Given the description of an element on the screen output the (x, y) to click on. 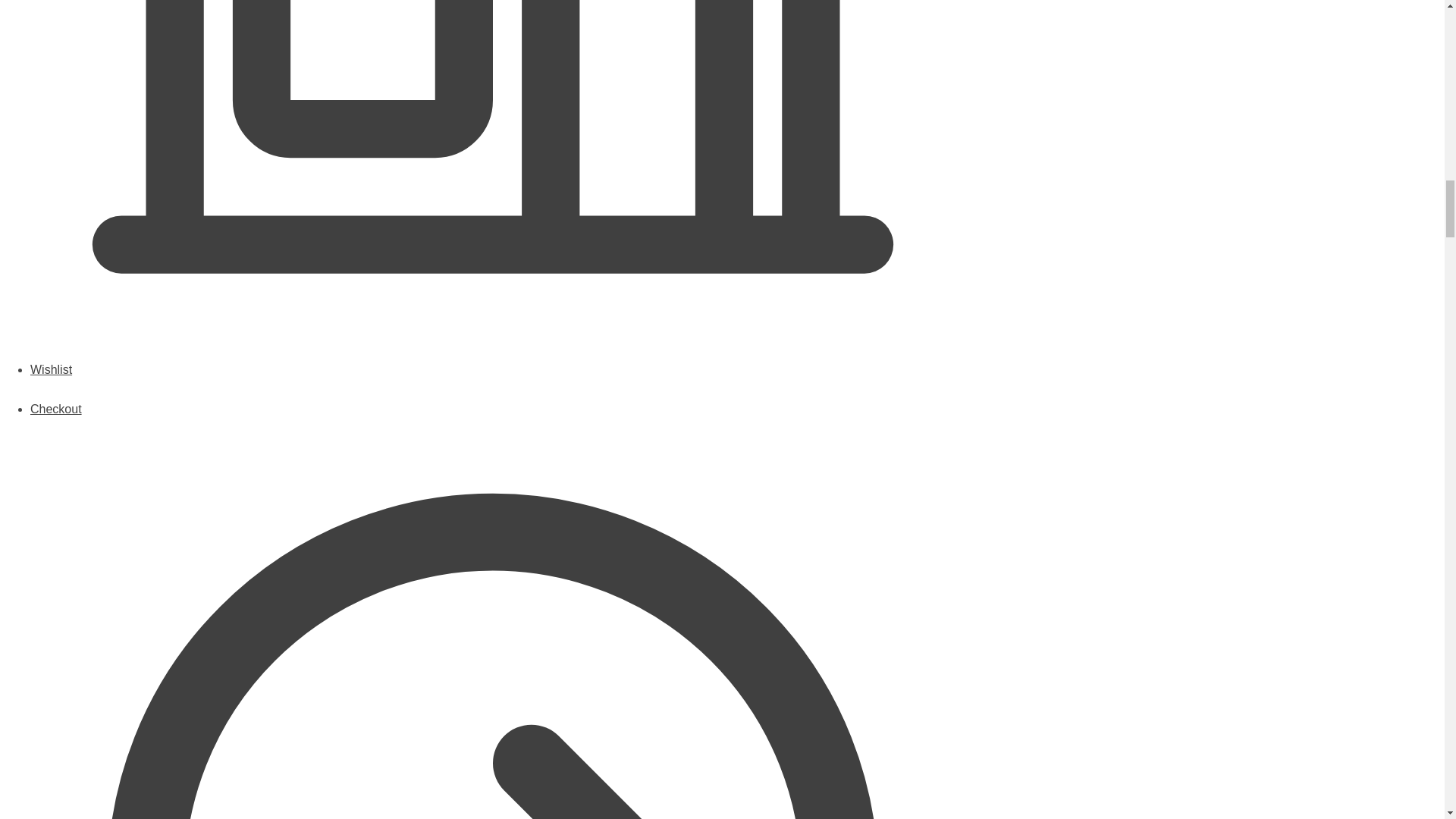
Wishlist (492, 382)
